Given the description of an element on the screen output the (x, y) to click on. 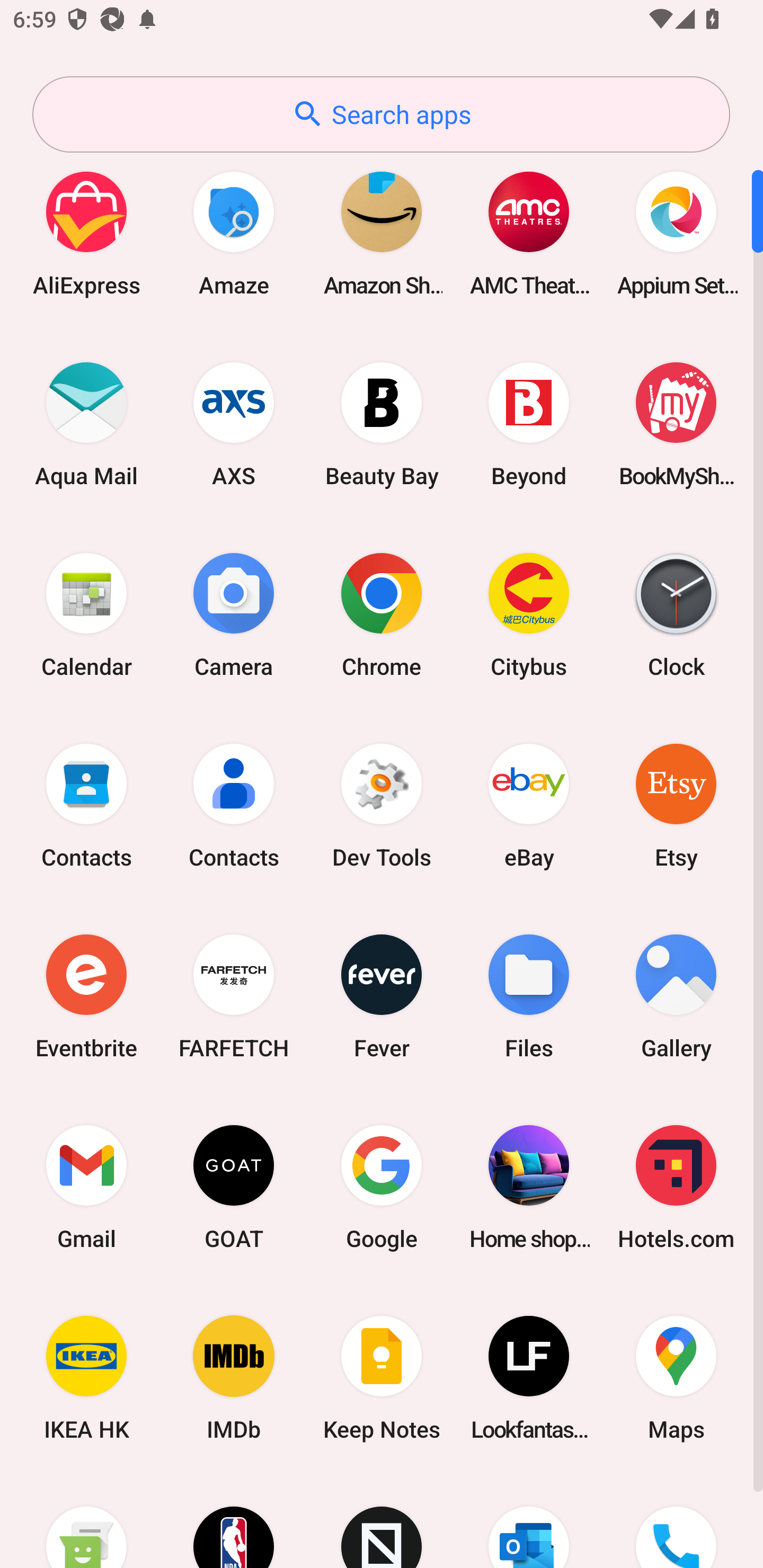
  Search apps (381, 114)
AliExpress (86, 233)
Amaze (233, 233)
Amazon Shopping (381, 233)
AMC Theatres (528, 233)
Appium Settings (676, 233)
Aqua Mail (86, 424)
AXS (233, 424)
Beauty Bay (381, 424)
Beyond (528, 424)
BookMyShow (676, 424)
Calendar (86, 614)
Camera (233, 614)
Chrome (381, 614)
Citybus (528, 614)
Clock (676, 614)
Contacts (86, 805)
Contacts (233, 805)
Dev Tools (381, 805)
eBay (528, 805)
Etsy (676, 805)
Eventbrite (86, 996)
FARFETCH (233, 996)
Fever (381, 996)
Files (528, 996)
Gallery (676, 996)
Gmail (86, 1186)
GOAT (233, 1186)
Google (381, 1186)
Home shopping (528, 1186)
Hotels.com (676, 1186)
IKEA HK (86, 1377)
IMDb (233, 1377)
Keep Notes (381, 1377)
Lookfantastic (528, 1377)
Maps (676, 1377)
